Given the description of an element on the screen output the (x, y) to click on. 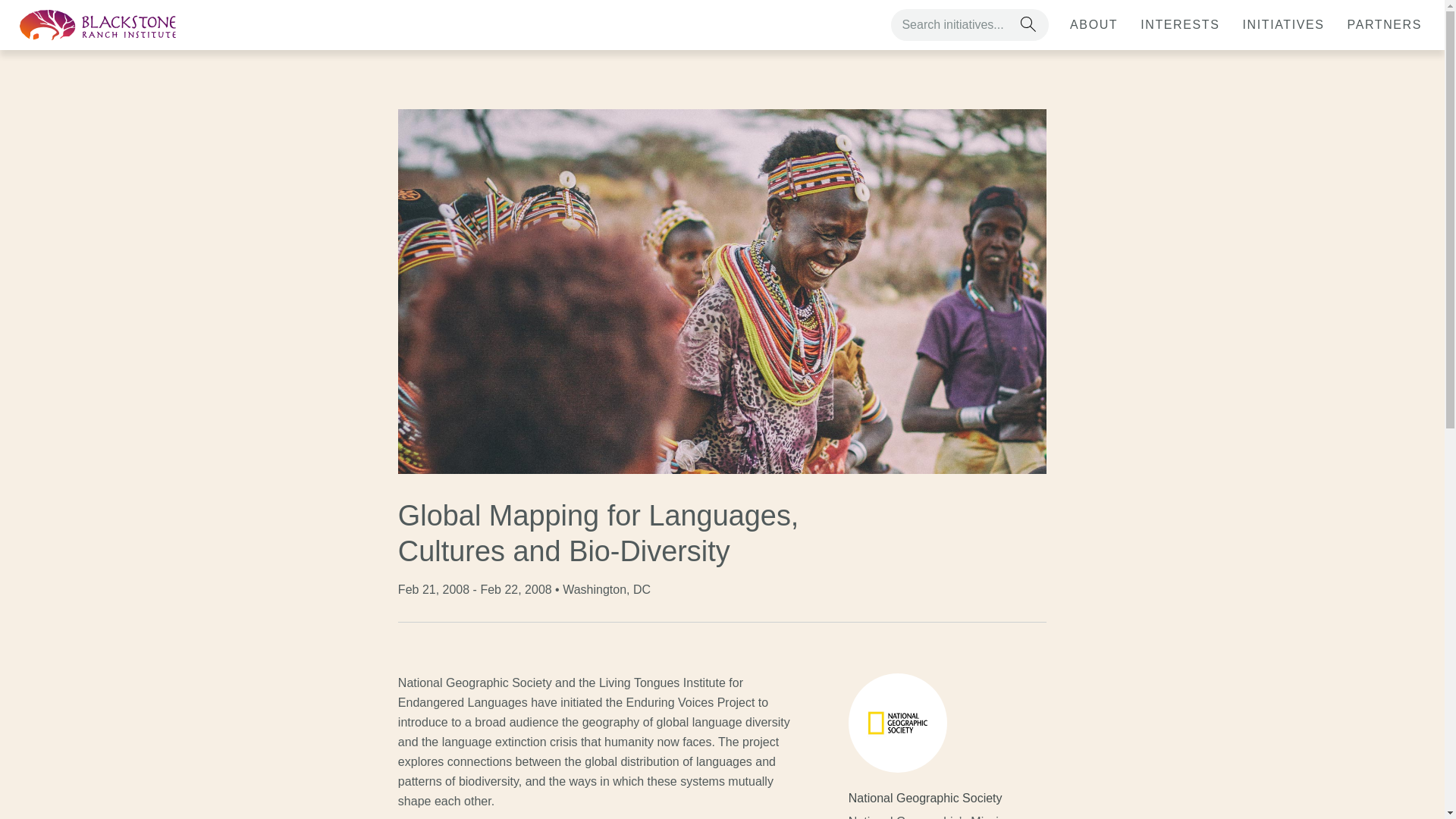
National Geographic Society (935, 798)
INITIATIVES (1283, 24)
PARTNERS (1384, 24)
INTERESTS (1179, 24)
ABOUT (1093, 24)
